Given the description of an element on the screen output the (x, y) to click on. 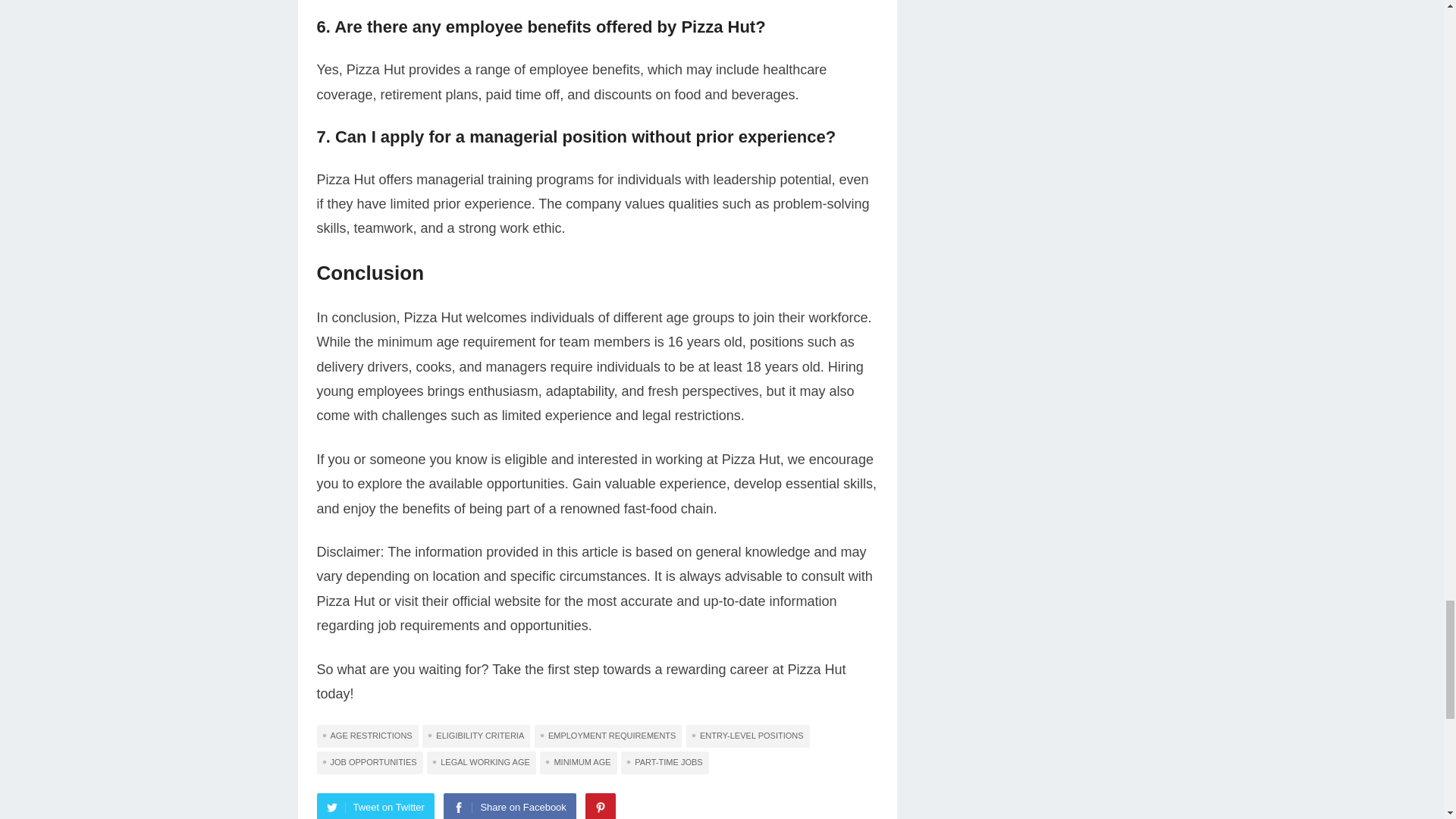
Share on Facebook (509, 806)
Tweet on Twitter (375, 806)
JOB OPPORTUNITIES (370, 762)
LEGAL WORKING AGE (480, 762)
Pinterest (600, 806)
ENTRY-LEVEL POSITIONS (747, 735)
MINIMUM AGE (577, 762)
AGE RESTRICTIONS (368, 735)
ELIGIBILITY CRITERIA (475, 735)
EMPLOYMENT REQUIREMENTS (608, 735)
PART-TIME JOBS (664, 762)
